Given the description of an element on the screen output the (x, y) to click on. 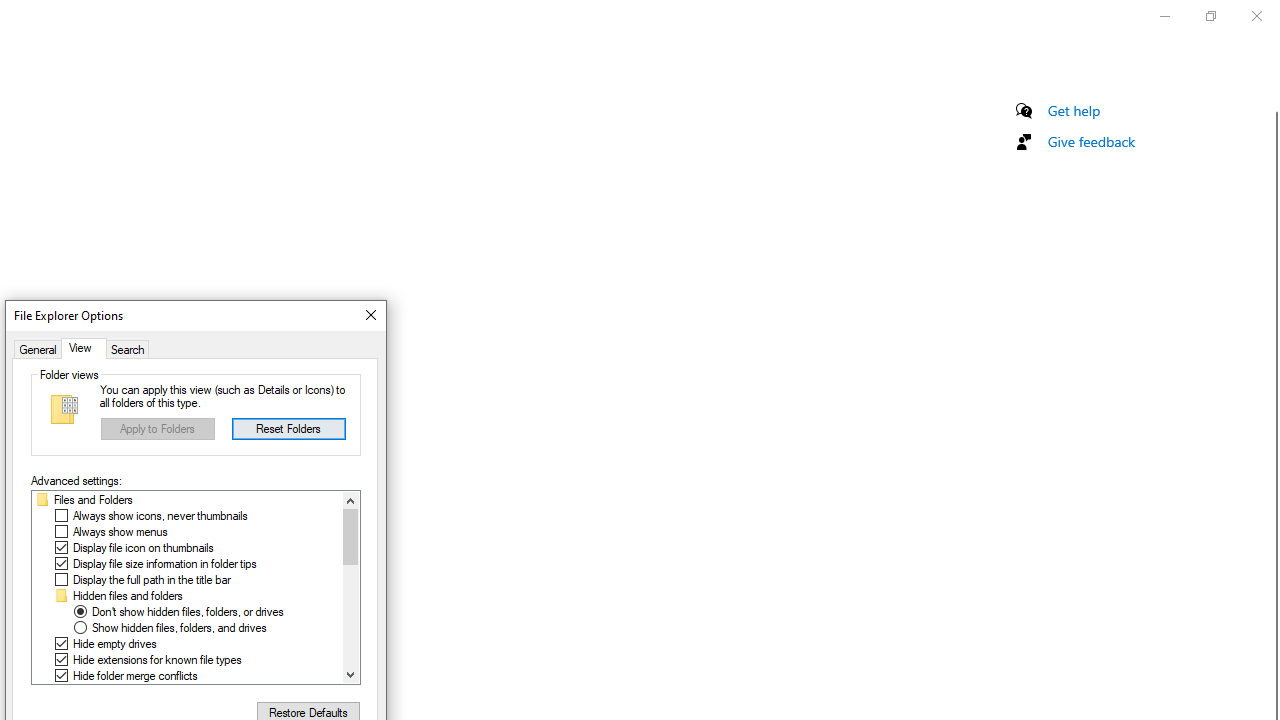
Close (369, 315)
Always show icons, never thumbnails (159, 516)
Display file icon on thumbnails (143, 547)
Show hidden files, folders, and drives (178, 627)
Page down (349, 615)
Line down (349, 674)
Display file size information in folder tips (164, 563)
Vertical (349, 587)
Search (127, 348)
Display the full path in the title bar (151, 579)
Don't show hidden files, folders, or drives (187, 611)
Reset Folders (288, 428)
Hidden files and folders (127, 596)
Files and Folders (93, 499)
Hide extensions for known file types (157, 660)
